Given the description of an element on the screen output the (x, y) to click on. 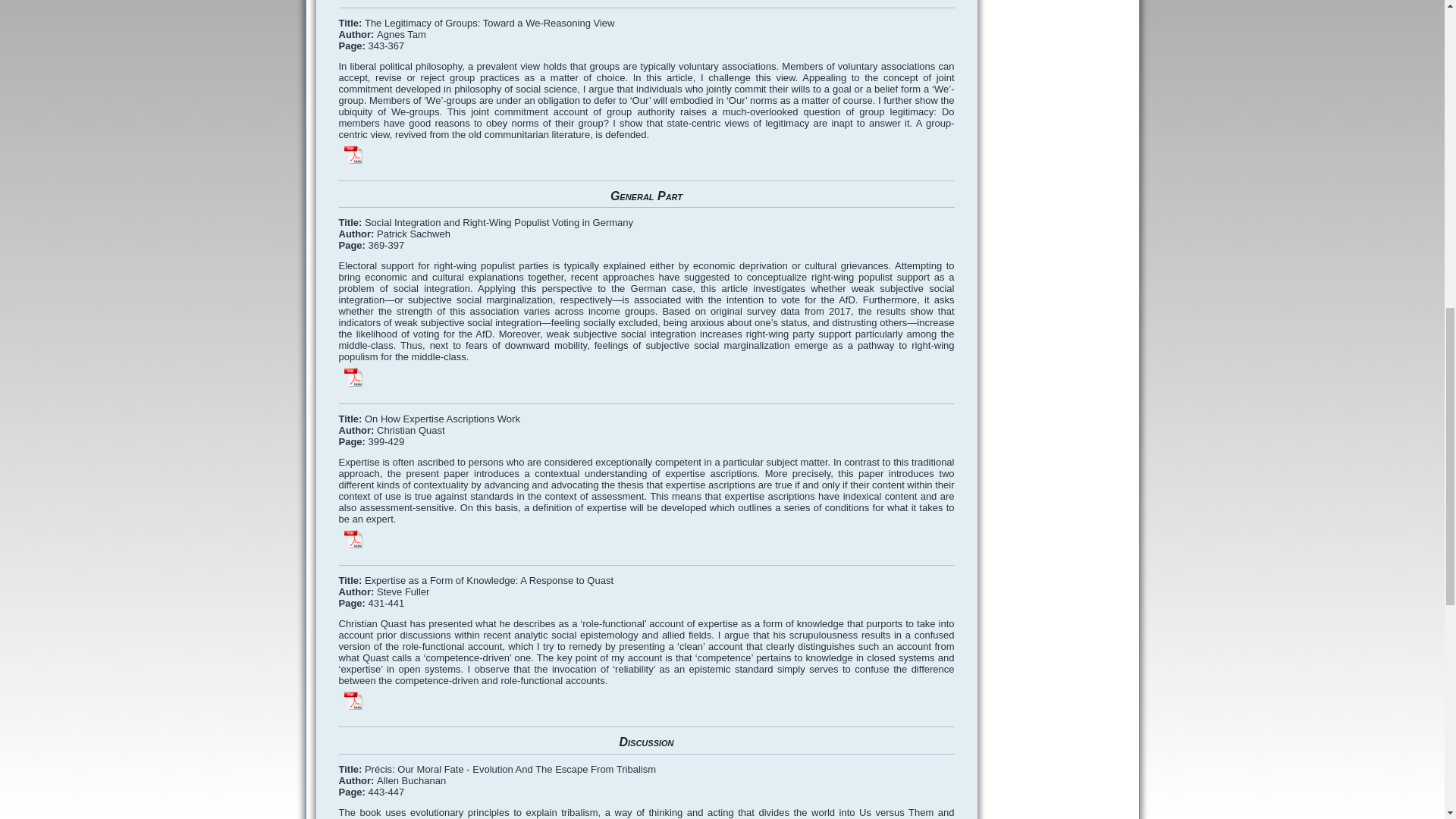
Ganzes Abstract als Download. (352, 538)
Ganzes Abstract als Download. (352, 376)
Ganzes Abstract als Download. (352, 154)
Ganzes Abstract als Download. (352, 700)
